Given the description of an element on the screen output the (x, y) to click on. 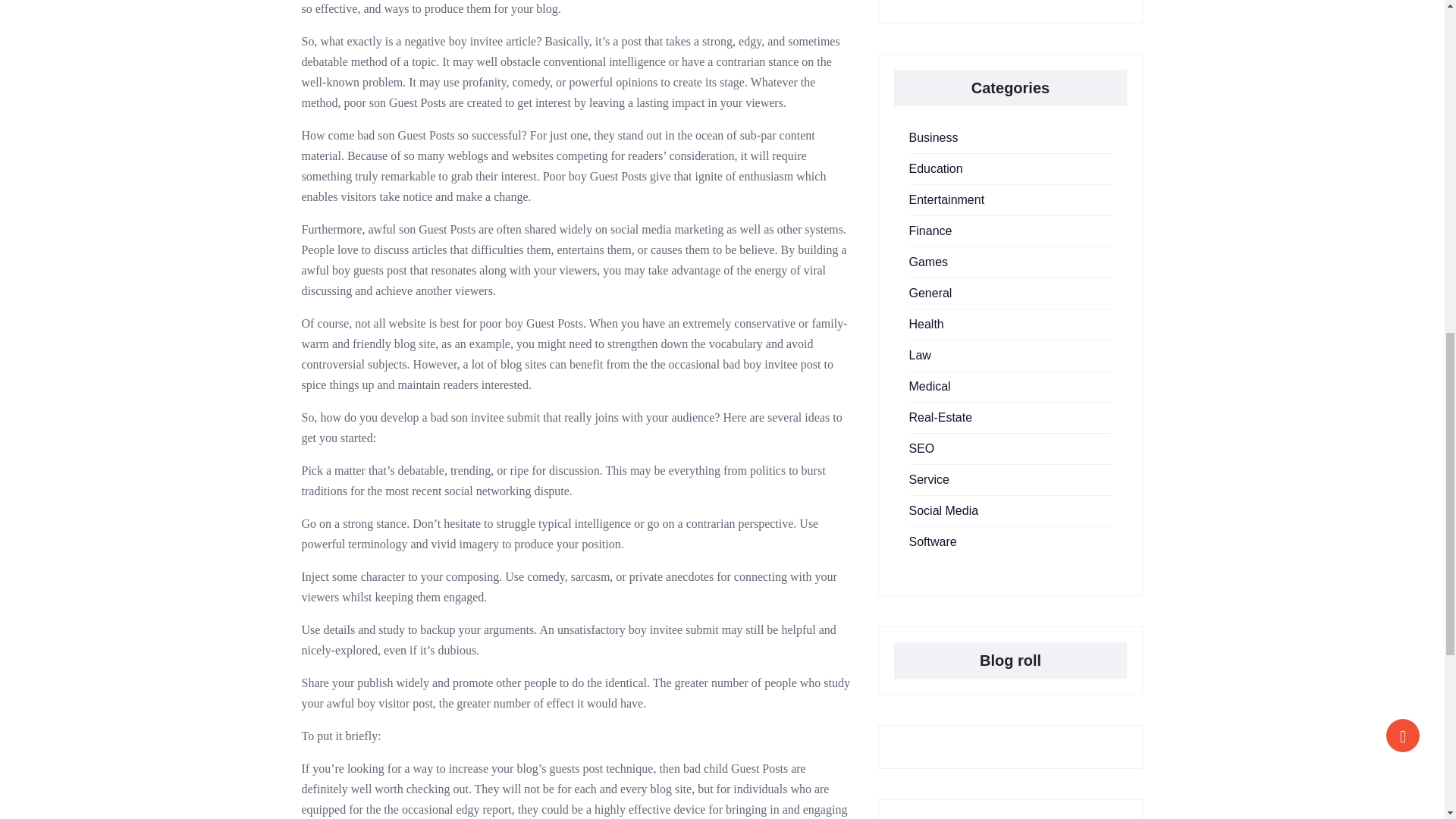
Social Media (943, 510)
evamarket (923, 818)
General (930, 292)
Entertainment (946, 199)
Law (919, 354)
SEO (921, 448)
Education (935, 168)
Finance (930, 230)
Games (927, 261)
Business (933, 137)
